Given the description of an element on the screen output the (x, y) to click on. 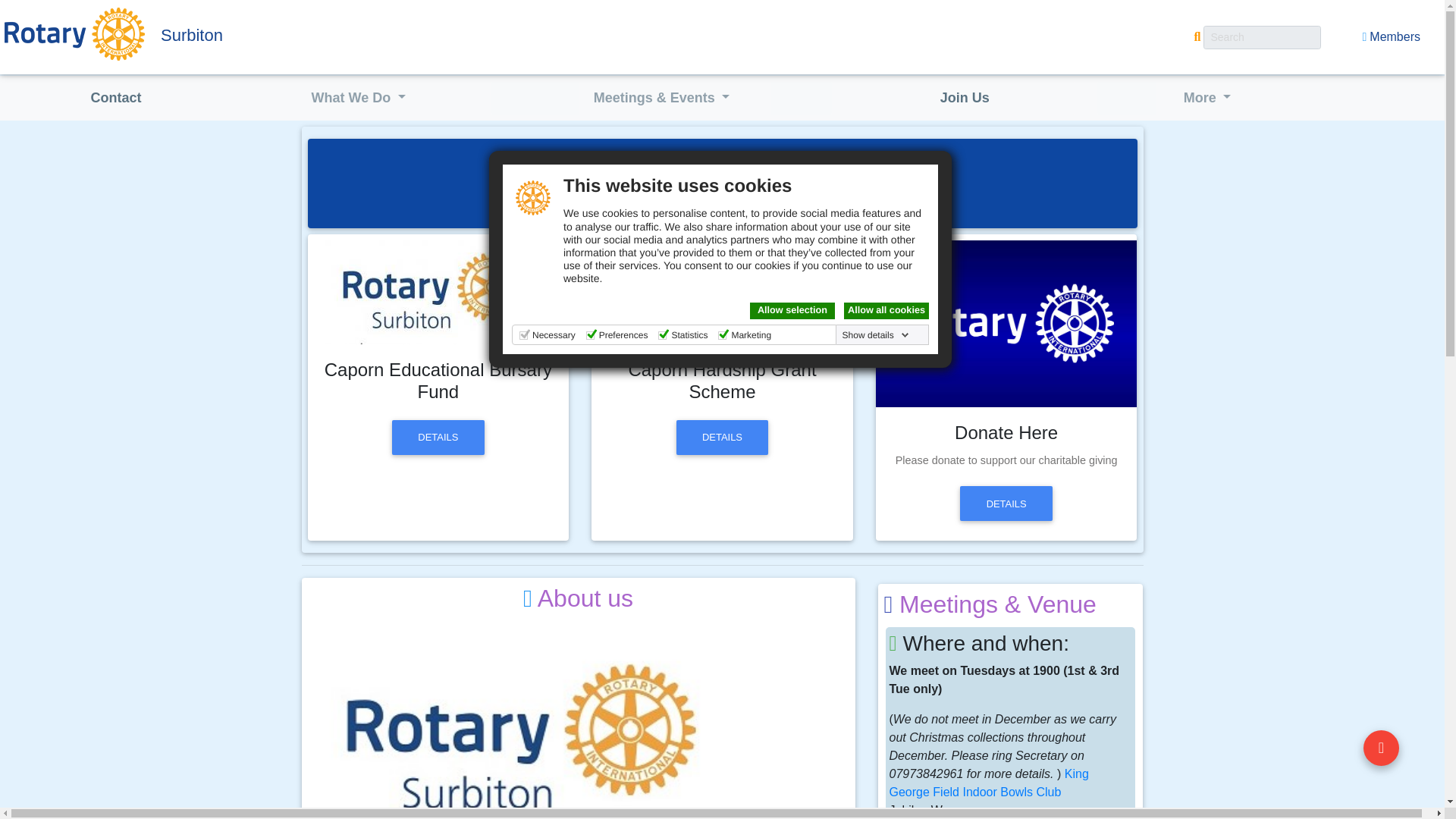
Allow selection (791, 310)
Allow all cookies (886, 310)
Show details (876, 335)
